Given the description of an element on the screen output the (x, y) to click on. 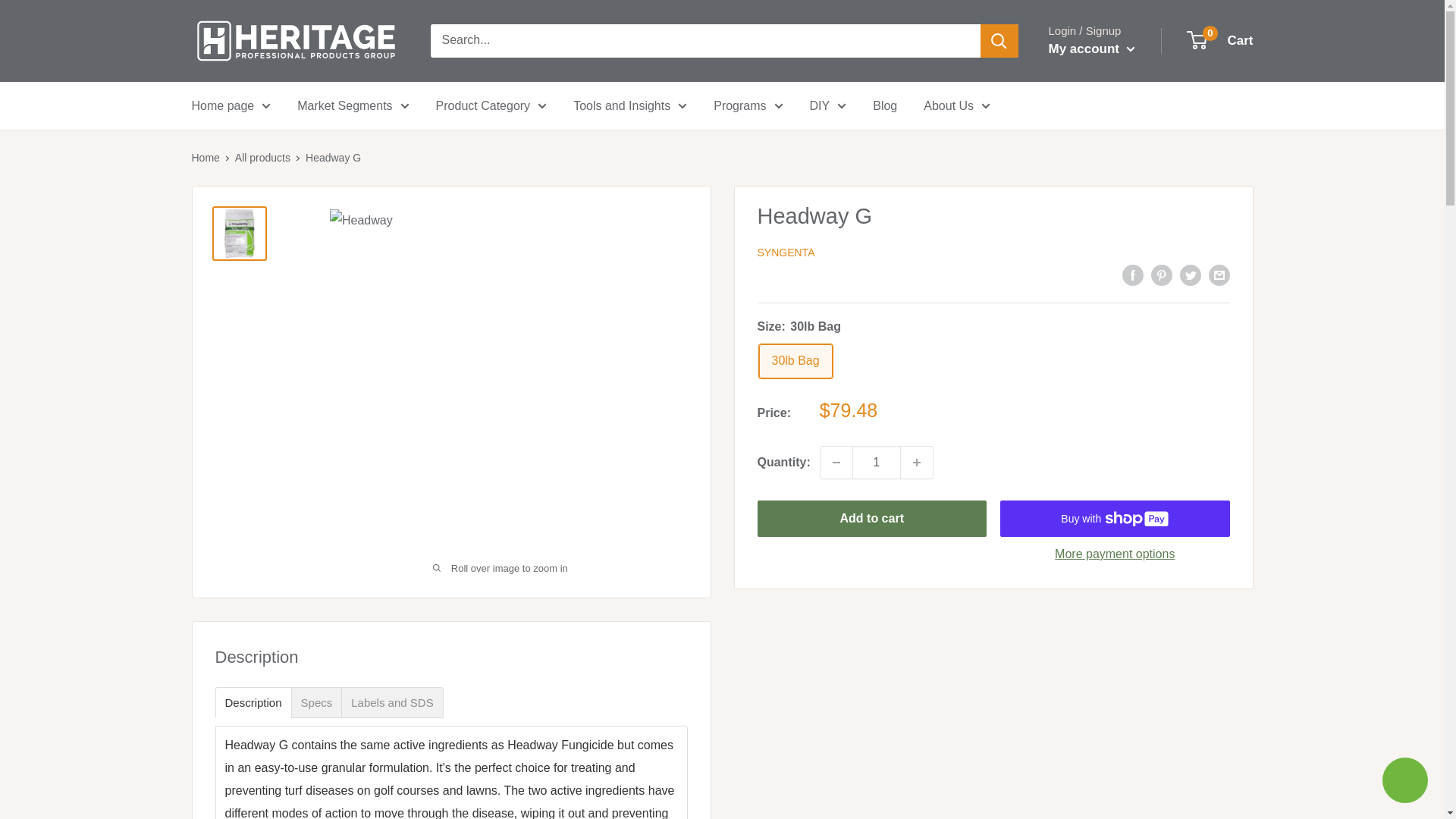
Increase quantity by 1 (917, 462)
30lb Bag (794, 360)
Shopify online store chat (1404, 781)
Decrease quantity by 1 (836, 462)
1 (876, 462)
